Given the description of an element on the screen output the (x, y) to click on. 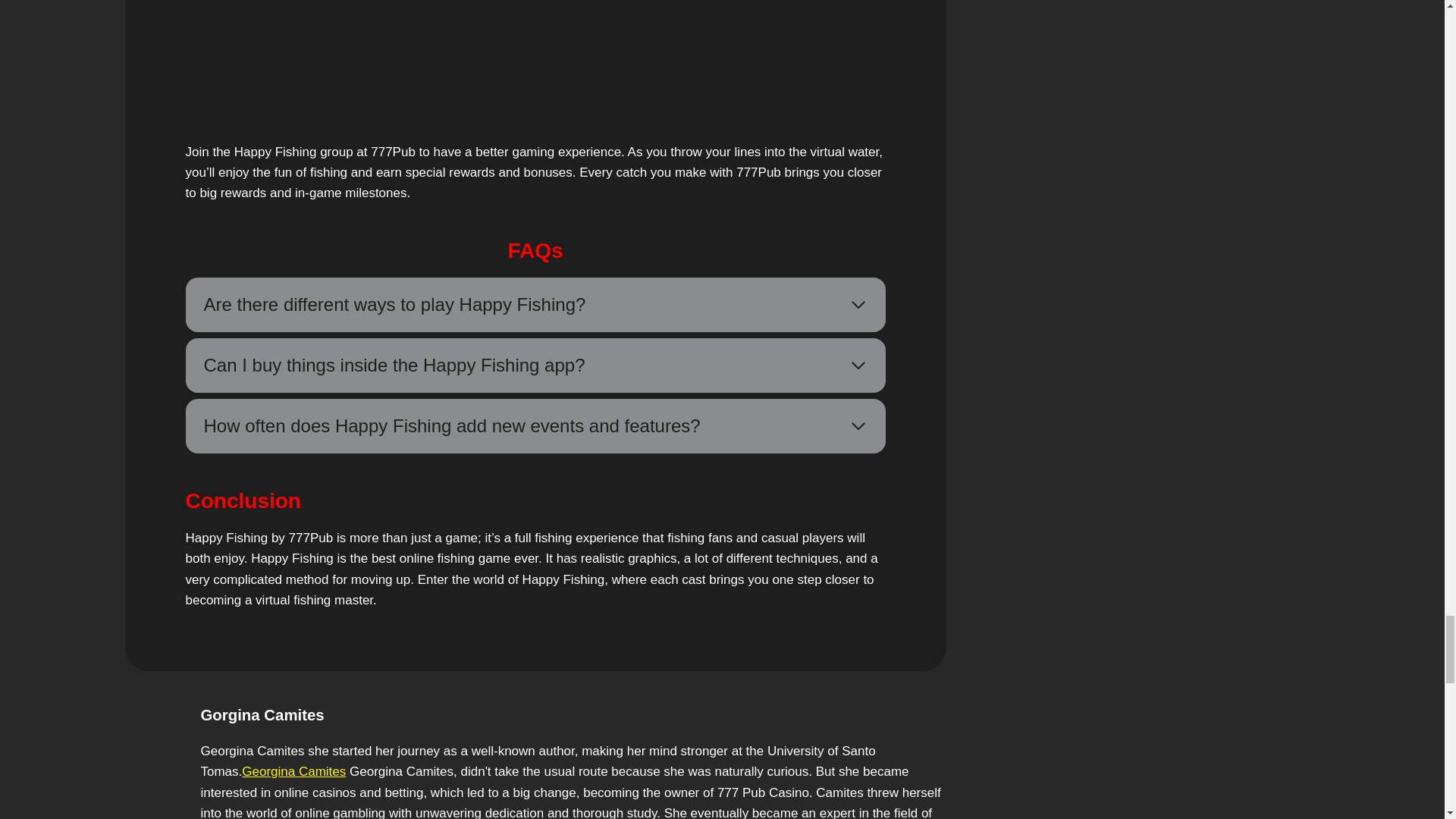
Can I buy things inside the Happy Fishing app? (534, 365)
Gorgina Camites (261, 714)
Posts by Gorgina Camites (261, 714)
Georgina Camites (293, 771)
Are there different ways to play Happy Fishing? (534, 304)
How often does Happy Fishing add new events and features? (534, 425)
